Given the description of an element on the screen output the (x, y) to click on. 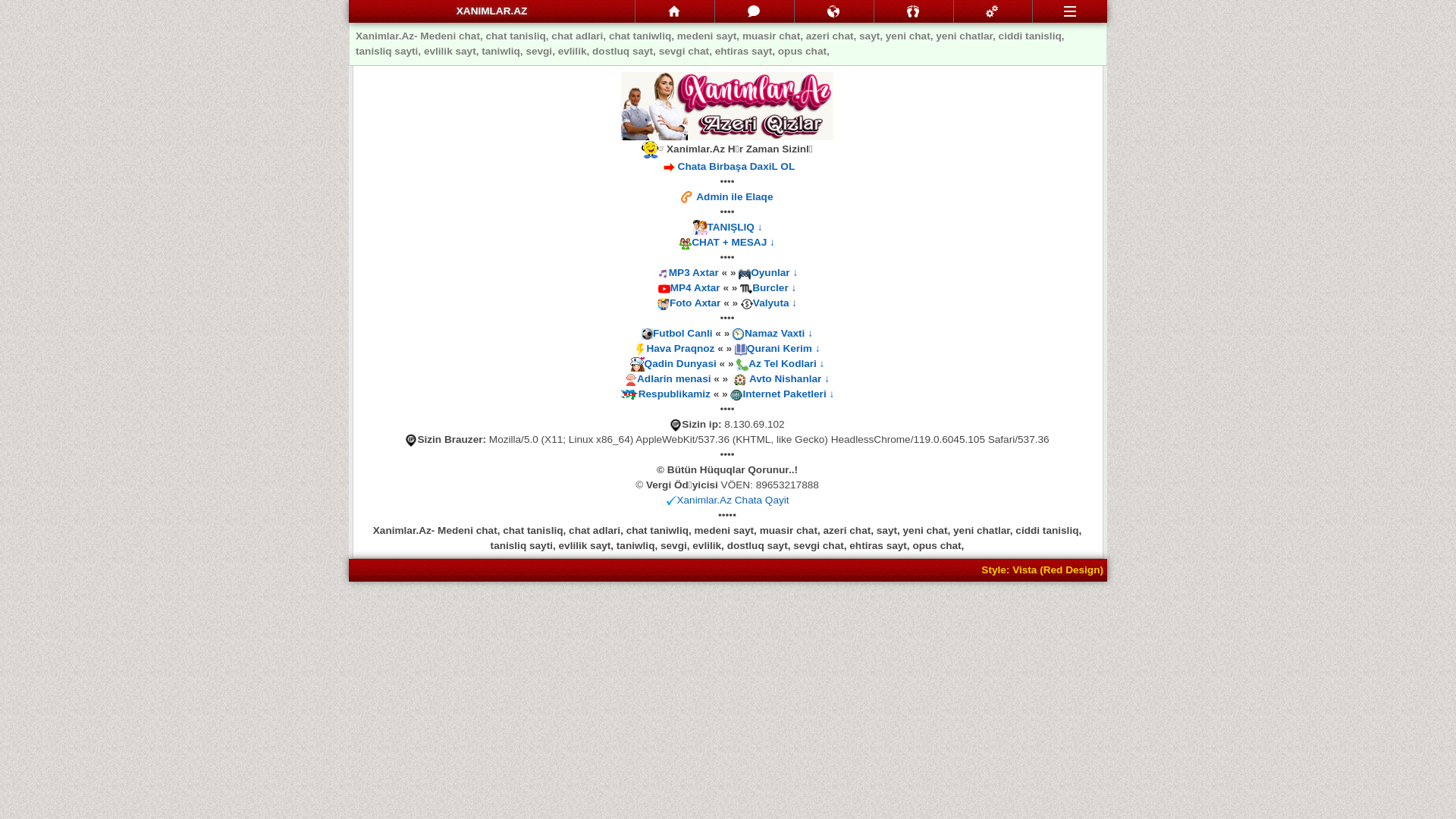
Style: Vista (Red Design) Element type: text (1042, 569)
Home Element type: hover (674, 11)
Adlarin menasi Element type: text (673, 378)
Mesajlar Element type: hover (754, 11)
Mektublar Element type: hover (833, 11)
Qonaqlar Element type: hover (913, 11)
Futbol Canli Element type: text (682, 332)
Respublikamiz Element type: text (674, 393)
Xanimlar.Az Chata Qayit Element type: text (732, 499)
Foto Axtar Element type: text (694, 302)
MP4 Axtar Element type: text (695, 287)
Hava Praqnoz Element type: text (680, 348)
MP3 Axtar Element type: text (693, 272)
Qadin Dunyasi Element type: text (680, 363)
Admin ile Elaqe Element type: text (734, 196)
